Given the description of an element on the screen output the (x, y) to click on. 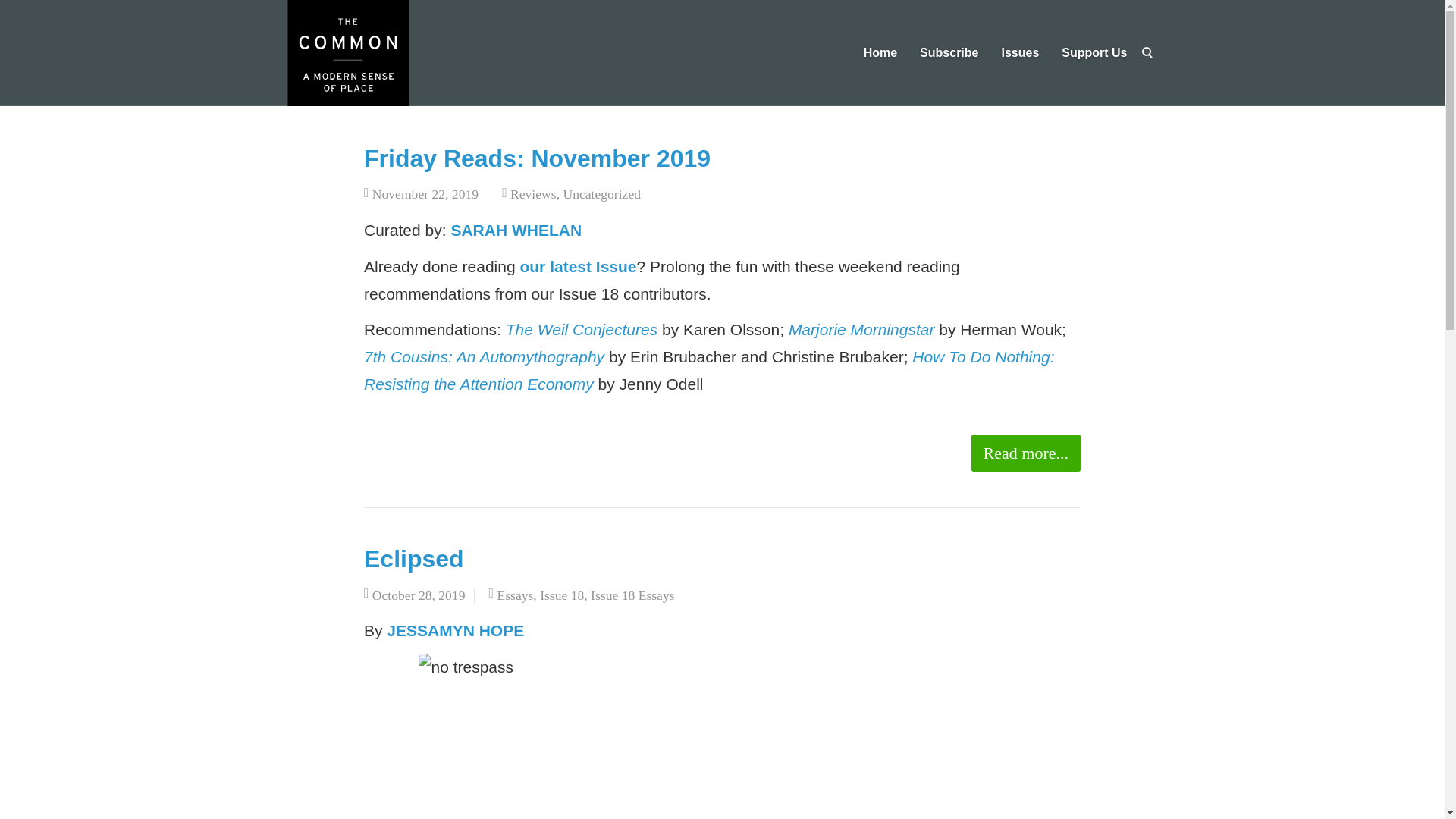
Reviews (533, 193)
Uncategorized (601, 193)
Issue 18 Essays (632, 595)
our latest Issue (577, 266)
Eclipsed (414, 558)
Issue 18 (561, 595)
Permalink to Friday Reads: November 2019 (537, 157)
Permalink to Eclipsed (414, 558)
Friday Reads: November 2019 (537, 157)
JESSAMYN HOPE (455, 630)
